Given the description of an element on the screen output the (x, y) to click on. 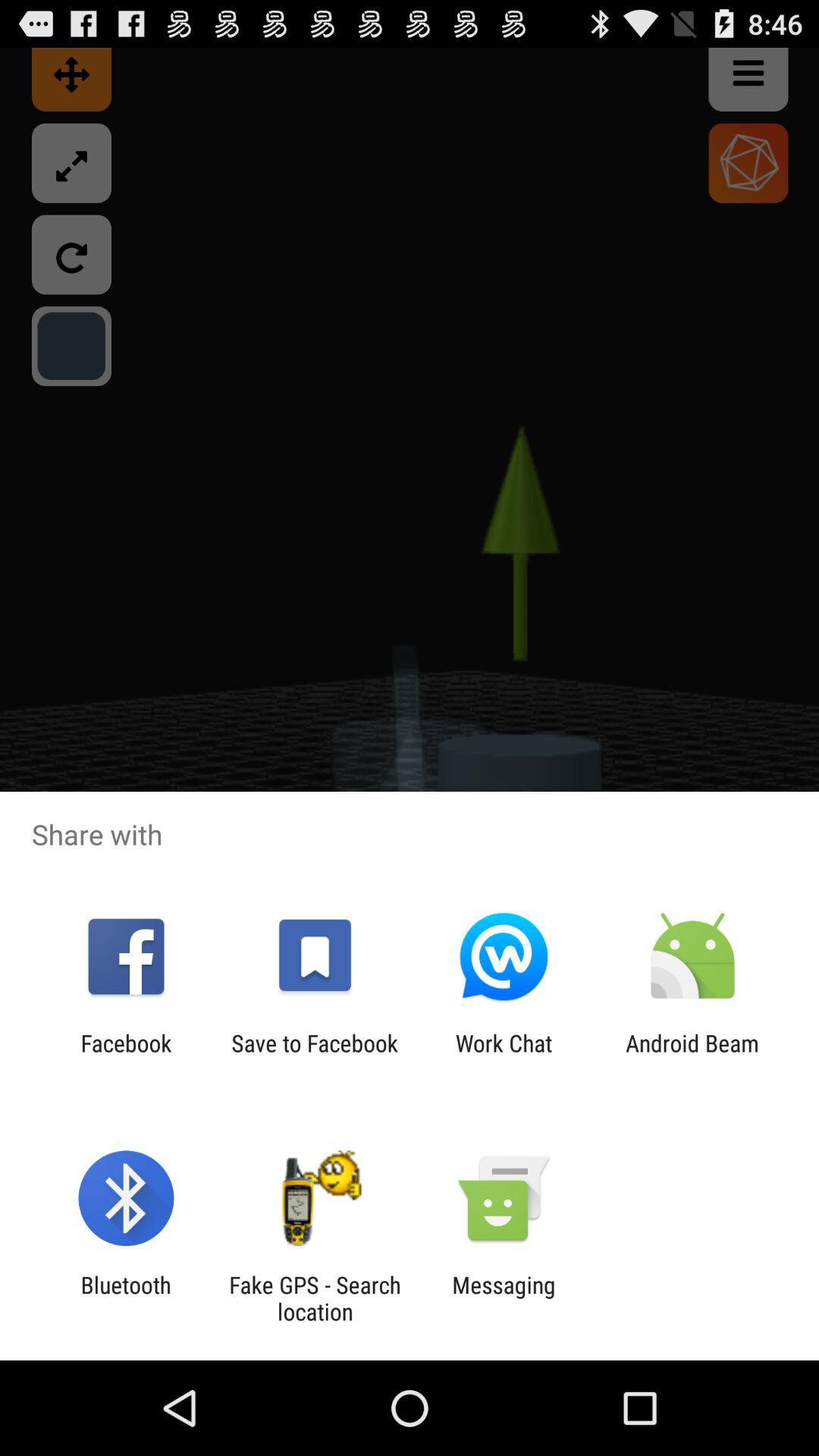
choose app next to messaging (314, 1298)
